Given the description of an element on the screen output the (x, y) to click on. 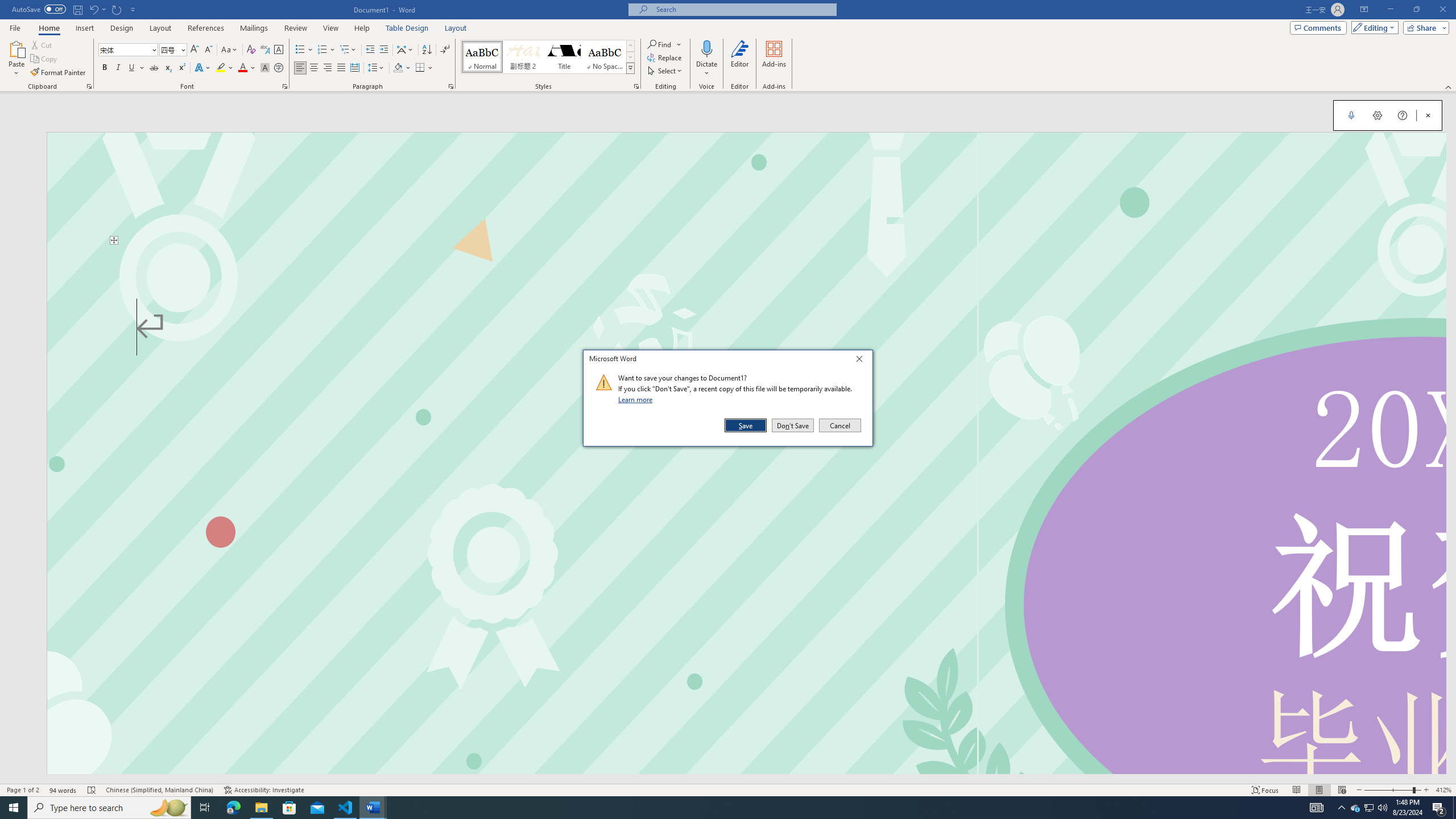
Repeat Text Fill Effect (117, 9)
Action Center, 2 new notifications (1439, 807)
Title (564, 56)
